Given the description of an element on the screen output the (x, y) to click on. 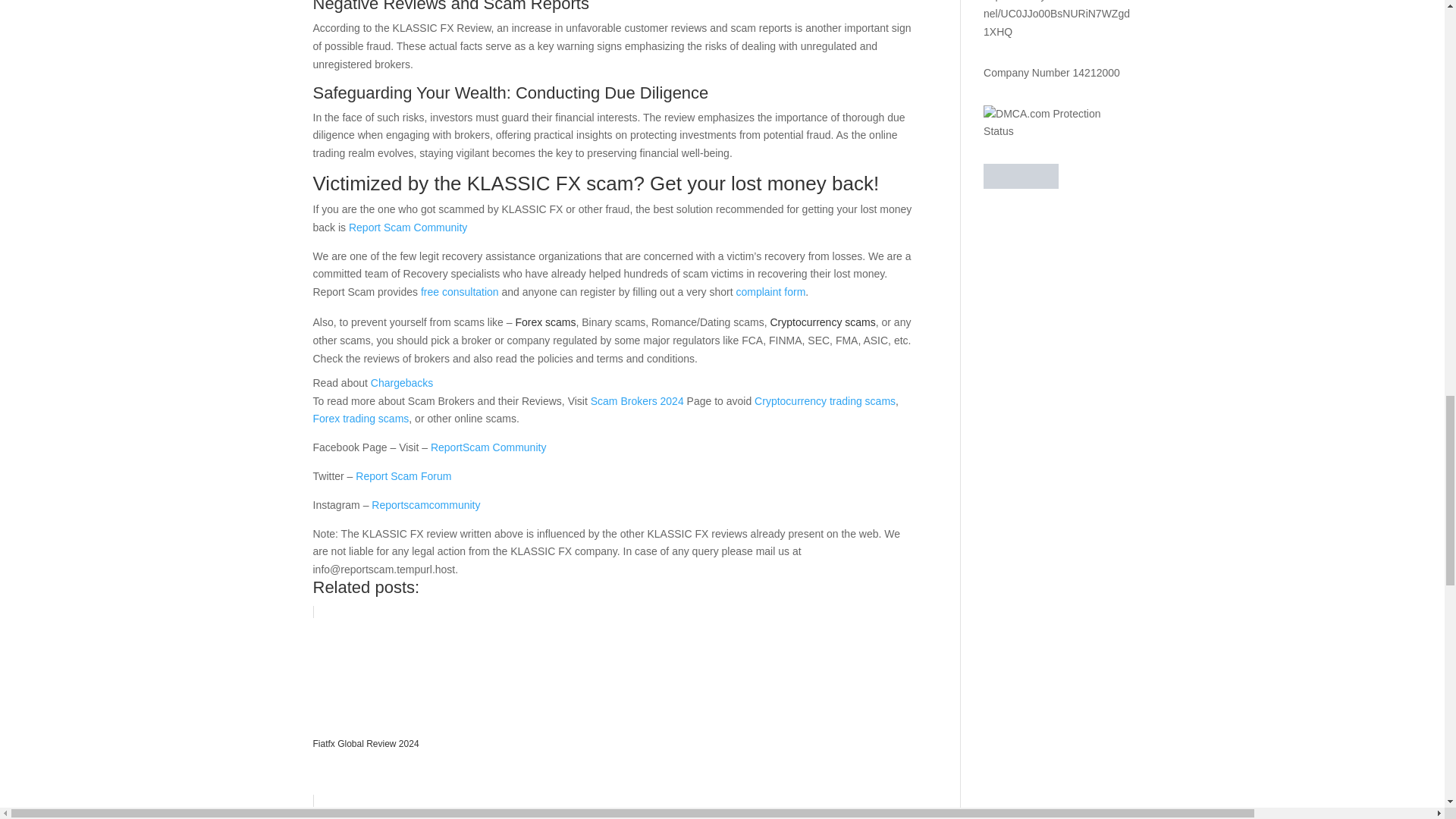
DMCA.com Protection Status (1057, 131)
Paperblog : The best blog articles around (1021, 184)
